Given the description of an element on the screen output the (x, y) to click on. 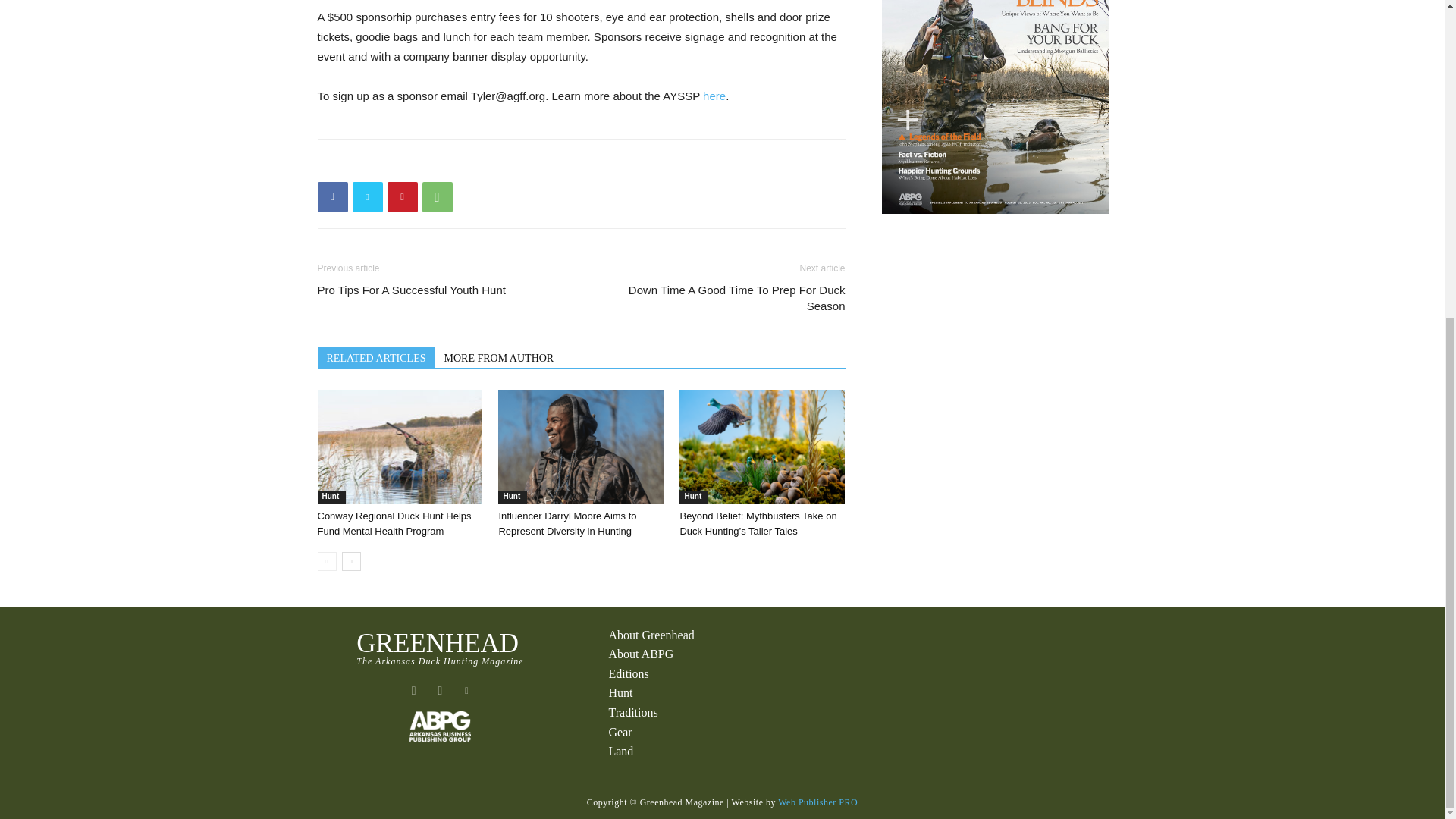
Pinterest (401, 196)
Facebook (332, 196)
Twitter (366, 196)
